Given the description of an element on the screen output the (x, y) to click on. 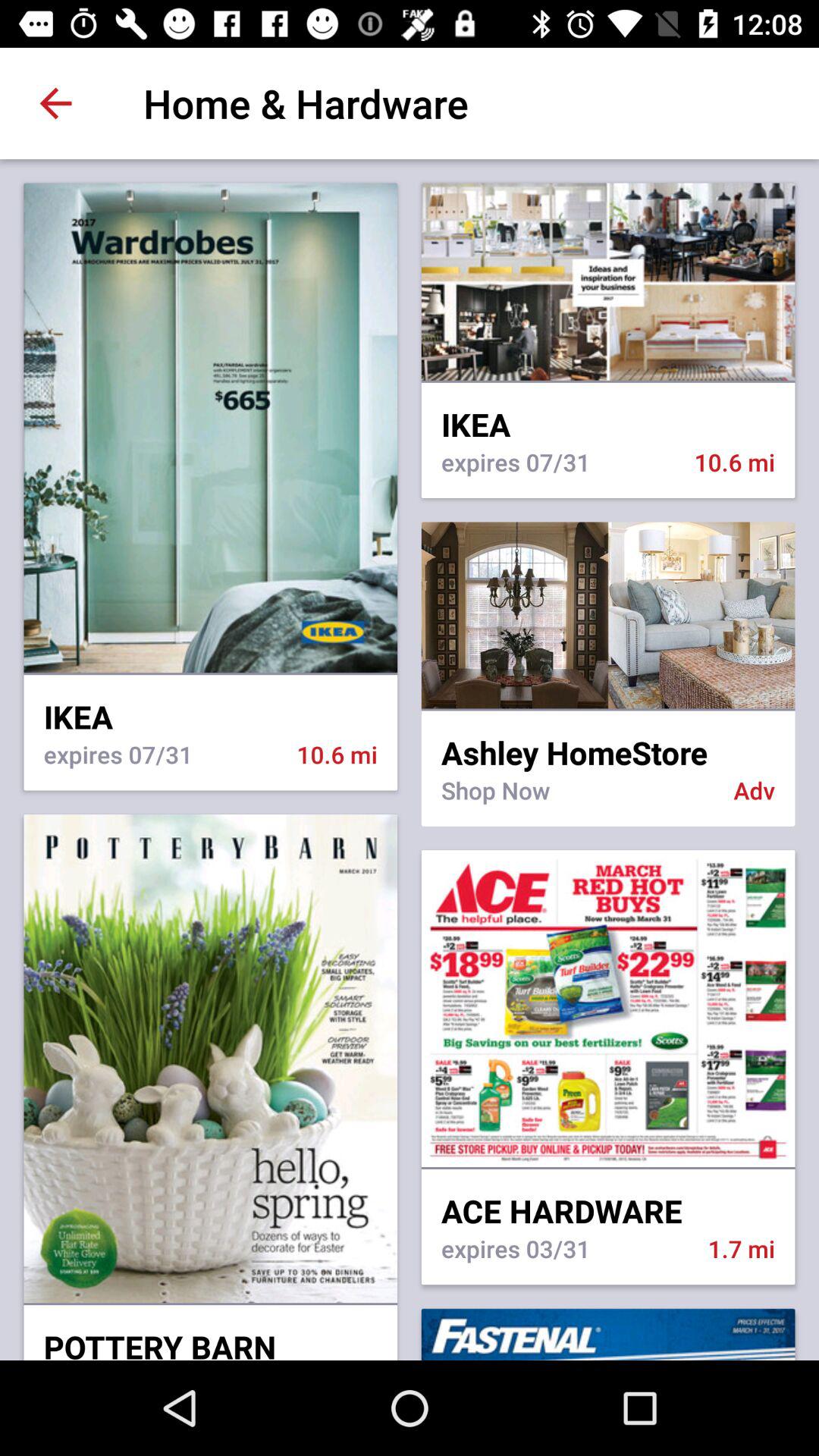
launch the item next to ikea icon (608, 709)
